Given the description of an element on the screen output the (x, y) to click on. 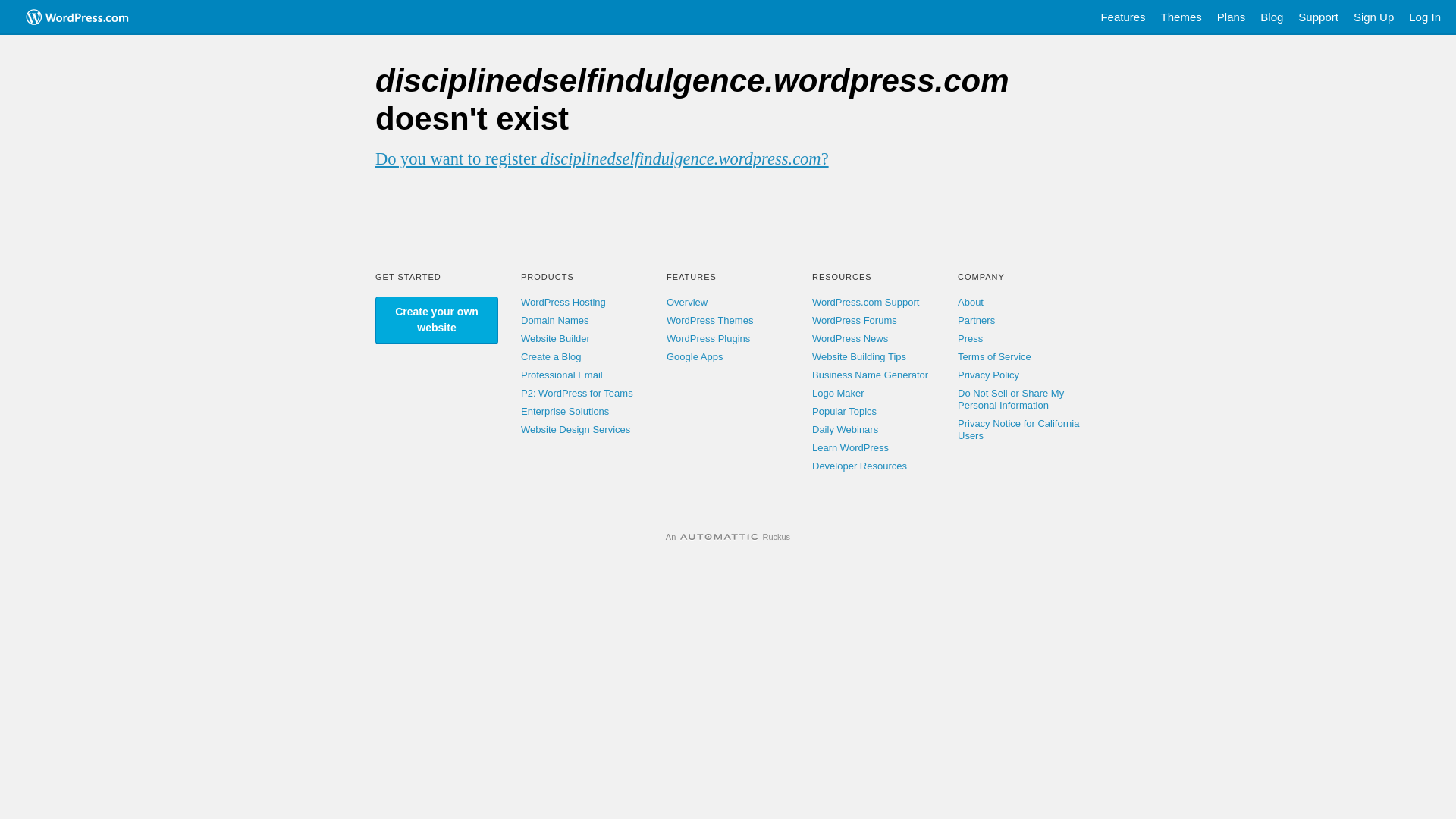
Themes Element type: text (1181, 17)
WordPress News Element type: text (850, 338)
Website Design Services Element type: text (575, 429)
About Element type: text (970, 301)
Privacy Policy Element type: text (988, 374)
Domain Names Element type: text (554, 320)
Create your own website Element type: text (436, 320)
Website Building Tips Element type: text (859, 356)
WordPress.com Support Element type: text (865, 301)
Automattic Element type: text (718, 536)
WordPress Hosting Element type: text (562, 301)
Terms of Service Element type: text (994, 356)
Privacy Notice for California Users Element type: text (1018, 429)
Do Not Sell or Share My Personal Information Element type: text (1010, 399)
Popular Topics Element type: text (844, 411)
Professional Email Element type: text (561, 374)
Logo Maker Element type: text (838, 392)
Enterprise Solutions Element type: text (564, 411)
WordPress Forums Element type: text (854, 320)
Create a Blog Element type: text (550, 356)
Sign Up Element type: text (1373, 17)
Developer Resources Element type: text (859, 465)
Partners Element type: text (975, 320)
Log In Element type: text (1424, 17)
WordPress Themes Element type: text (709, 320)
Google Apps Element type: text (694, 356)
Support Element type: text (1318, 17)
WordPress Plugins Element type: text (707, 338)
Features Element type: text (1122, 17)
Business Name Generator Element type: text (870, 374)
Learn WordPress Element type: text (850, 447)
Daily Webinars Element type: text (845, 429)
Plans Element type: text (1231, 17)
Blog Element type: text (1271, 17)
Press Element type: text (969, 338)
P2: WordPress for Teams Element type: text (576, 392)
Overview Element type: text (686, 301)
Website Builder Element type: text (554, 338)
